Given the description of an element on the screen output the (x, y) to click on. 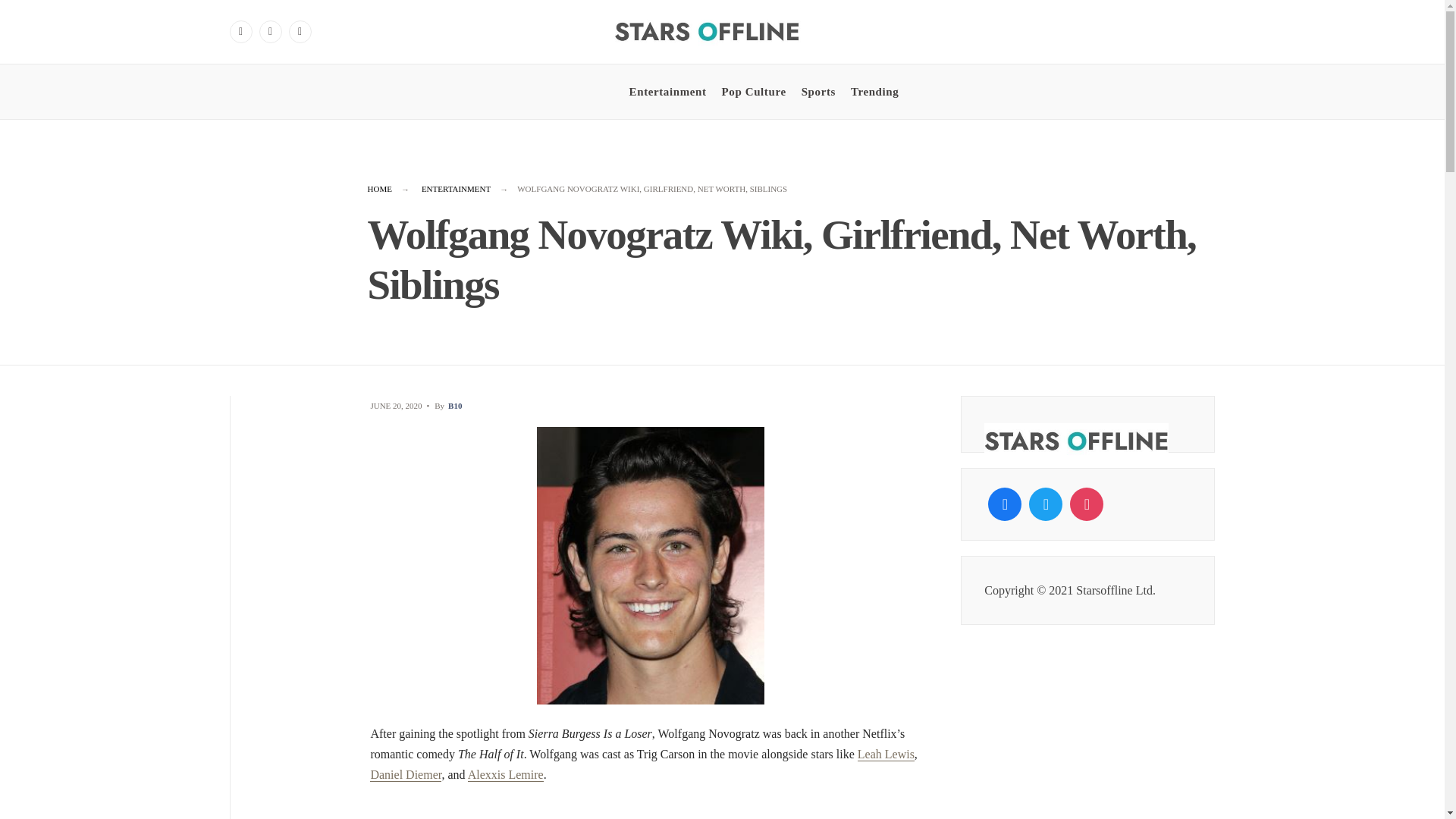
Leah Lewis (885, 754)
Posts by B10 (454, 405)
HOME (378, 188)
Entertainment (667, 91)
ENTERTAINMENT (456, 188)
Pop Culture (754, 91)
Pinterest (299, 31)
Daniel Diemer (405, 775)
Advertisement (650, 811)
Sports (818, 91)
Alexxis Lemire (505, 775)
B10 (454, 405)
Trending (874, 91)
